Given the description of an element on the screen output the (x, y) to click on. 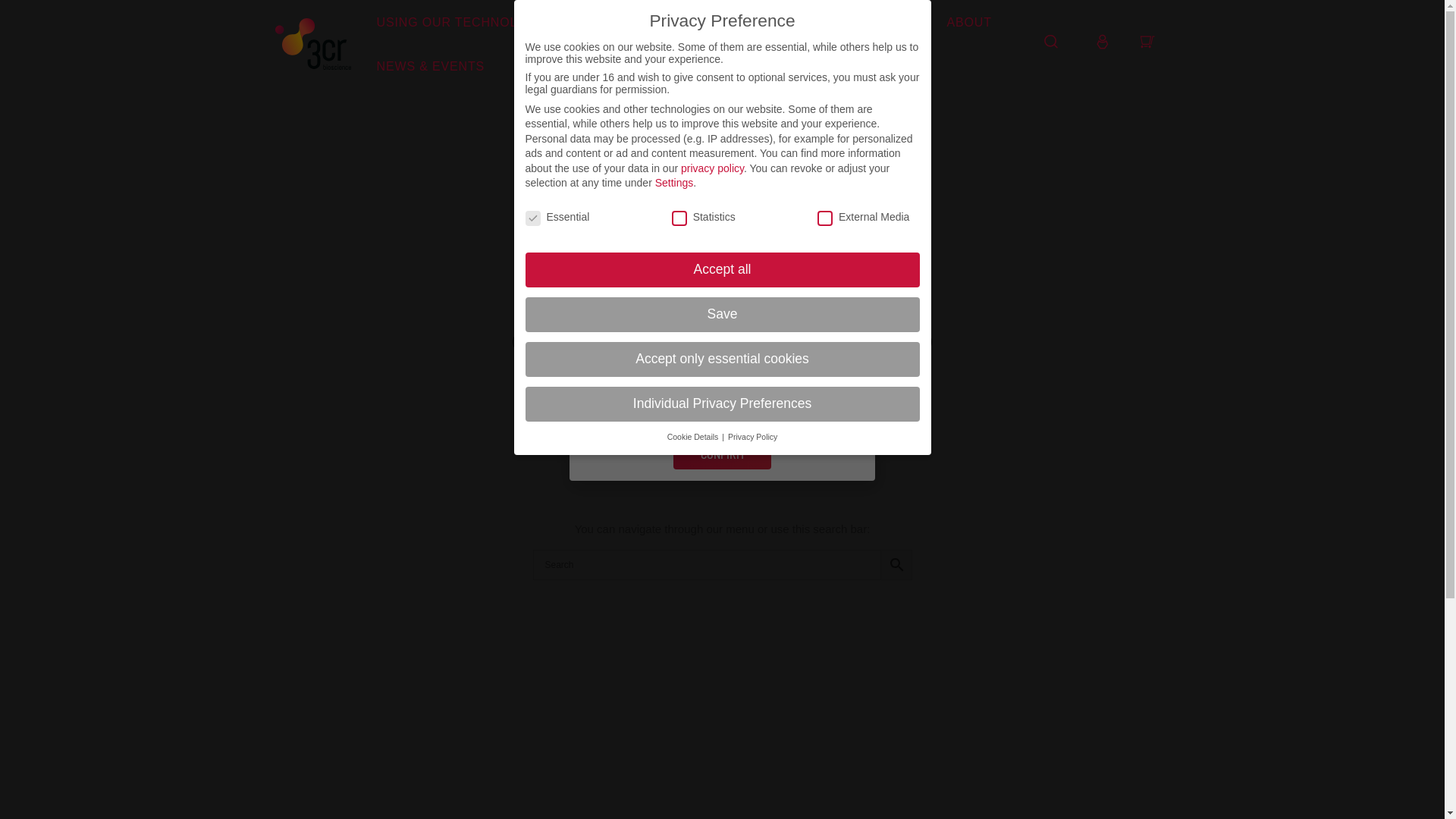
privacy policy Element type: text (711, 168)
CONFIRM Element type: text (722, 454)
Settings Element type: text (674, 182)
USING OUR TECHNOLOGY Element type: text (461, 22)
Privacy Policy Element type: text (752, 436)
Cookie Details Element type: text (694, 436)
Individual Privacy Preferences Element type: text (721, 403)
Save Element type: text (721, 314)
SUPPORT Element type: text (873, 22)
PRODUCTS Element type: text (623, 22)
LAB SERVICES Element type: text (751, 22)
Accept only essential cookies Element type: text (721, 359)
Accept all Element type: text (721, 269)
ABOUT Element type: text (968, 22)
NEWS & EVENTS Element type: text (430, 66)
